Given the description of an element on the screen output the (x, y) to click on. 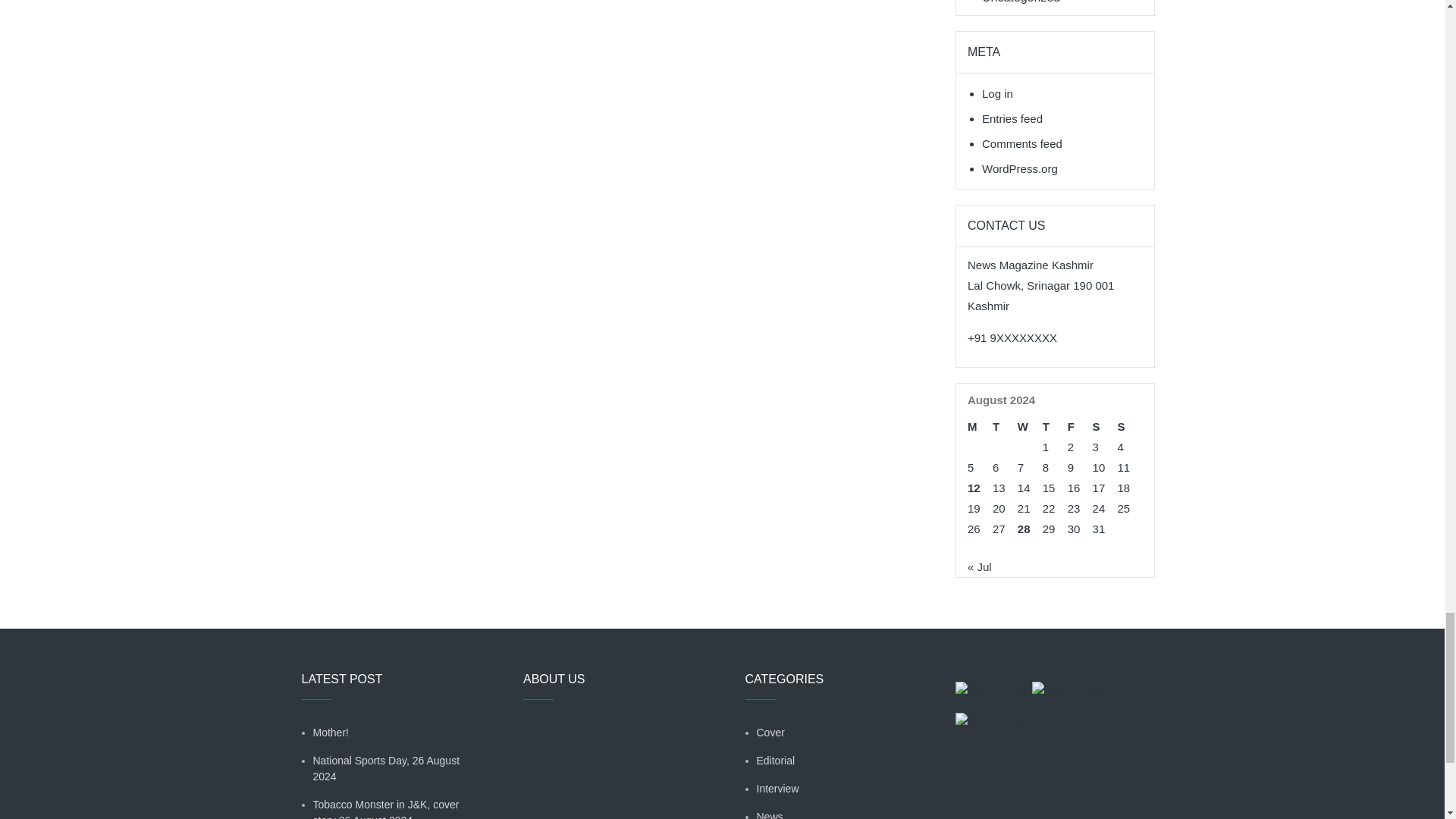
Monday (980, 426)
262x220 Ads (993, 680)
Wednesday (1029, 426)
Tuesday (1004, 426)
Thursday (1054, 426)
Sunday (1130, 426)
Friday (1080, 426)
Saturday (1105, 426)
